Given the description of an element on the screen output the (x, y) to click on. 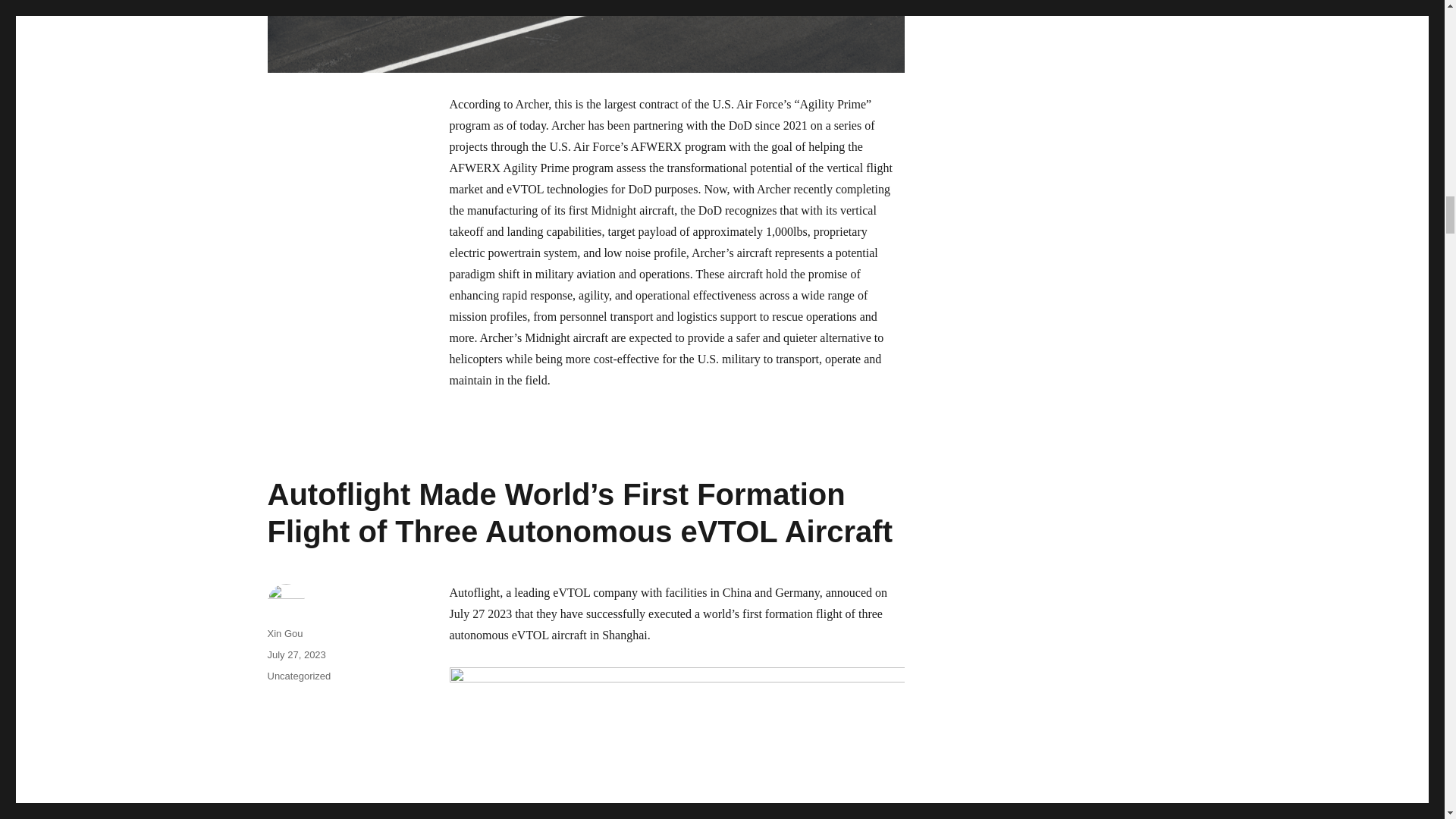
Uncategorized (298, 675)
Xin Gou (284, 633)
July 27, 2023 (295, 654)
